Given the description of an element on the screen output the (x, y) to click on. 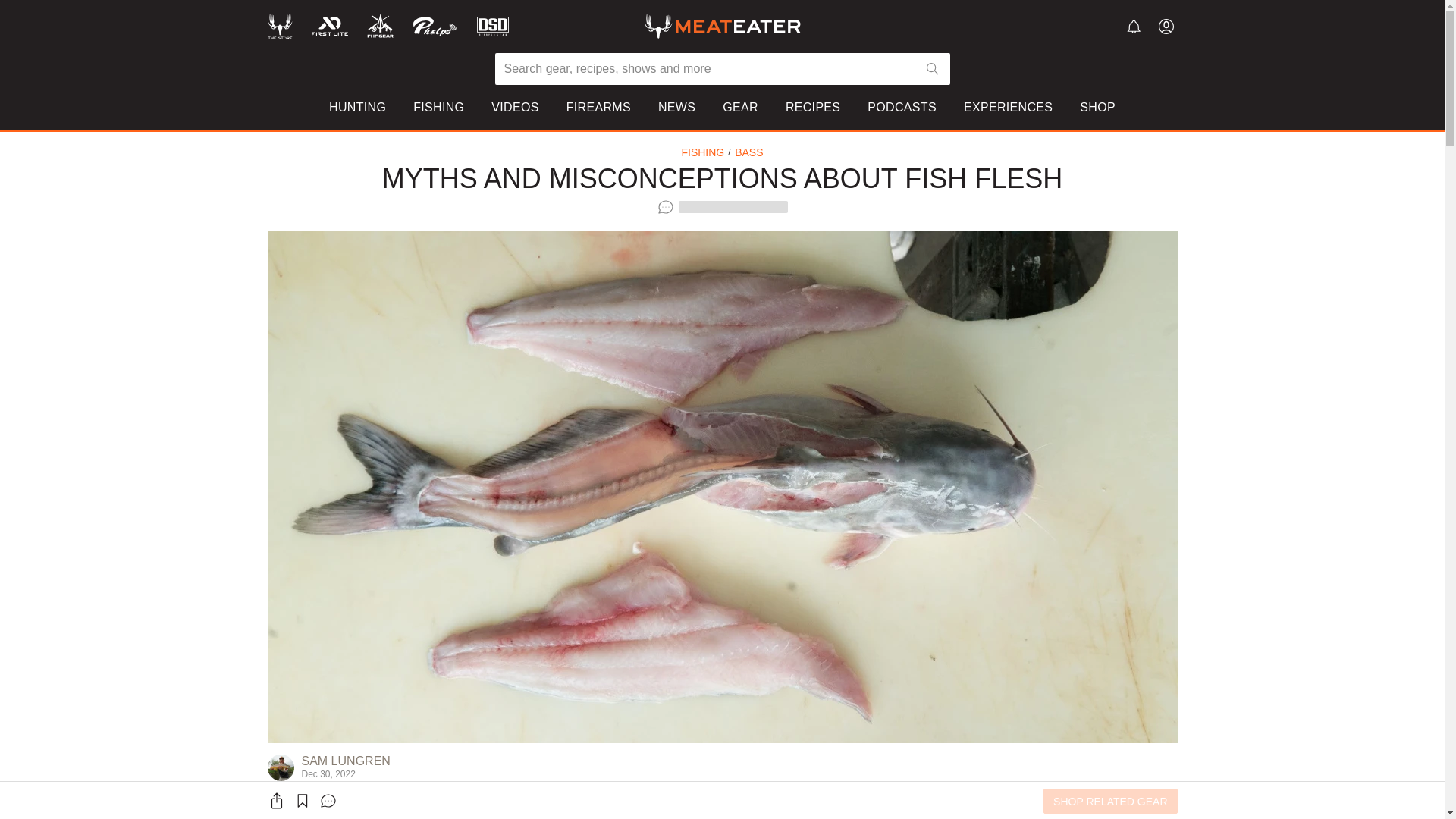
jacket (905, 155)
deer butchering (764, 199)
whitetail hunting (413, 199)
duck (1040, 177)
shot placement (763, 155)
venison (1048, 155)
rifle selection (757, 177)
bar room banter (596, 199)
pants (904, 177)
saddle hunting (408, 177)
